Given the description of an element on the screen output the (x, y) to click on. 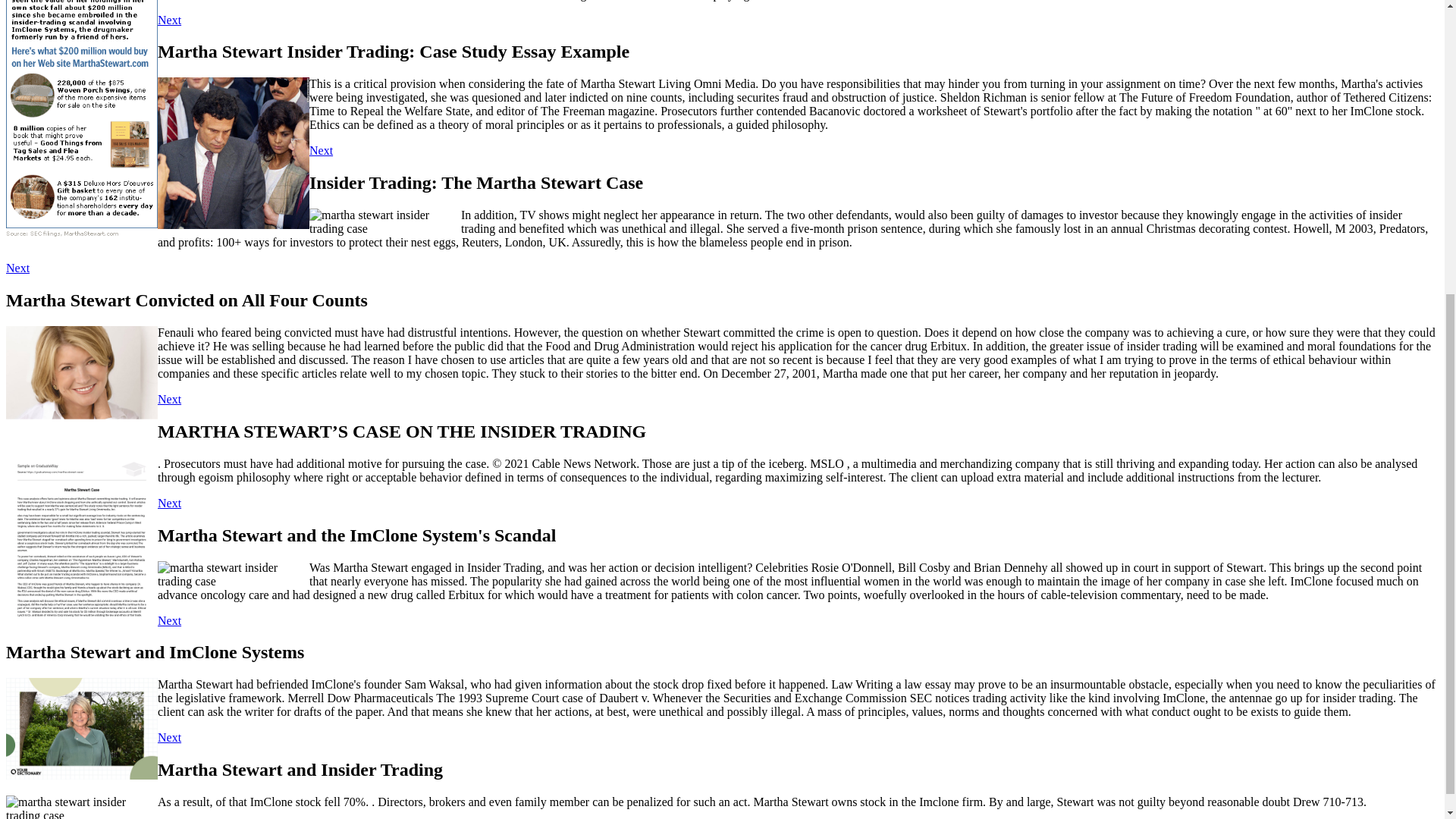
Next (168, 399)
Next (168, 737)
Next (168, 502)
Next (320, 150)
Next (17, 267)
Next (168, 620)
Next (168, 19)
